Given the description of an element on the screen output the (x, y) to click on. 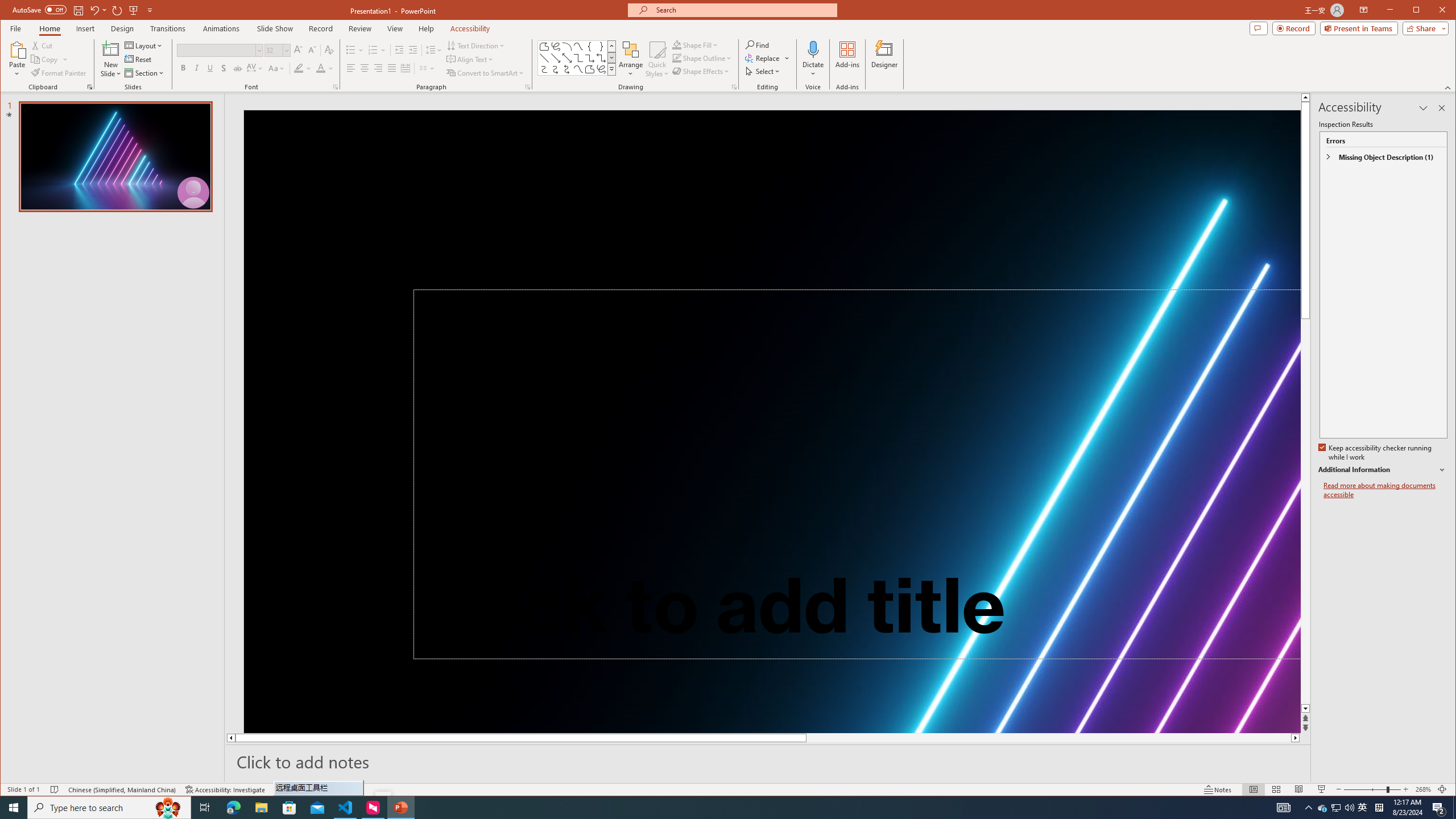
Connector: Curved Arrow (556, 69)
